Given the description of an element on the screen output the (x, y) to click on. 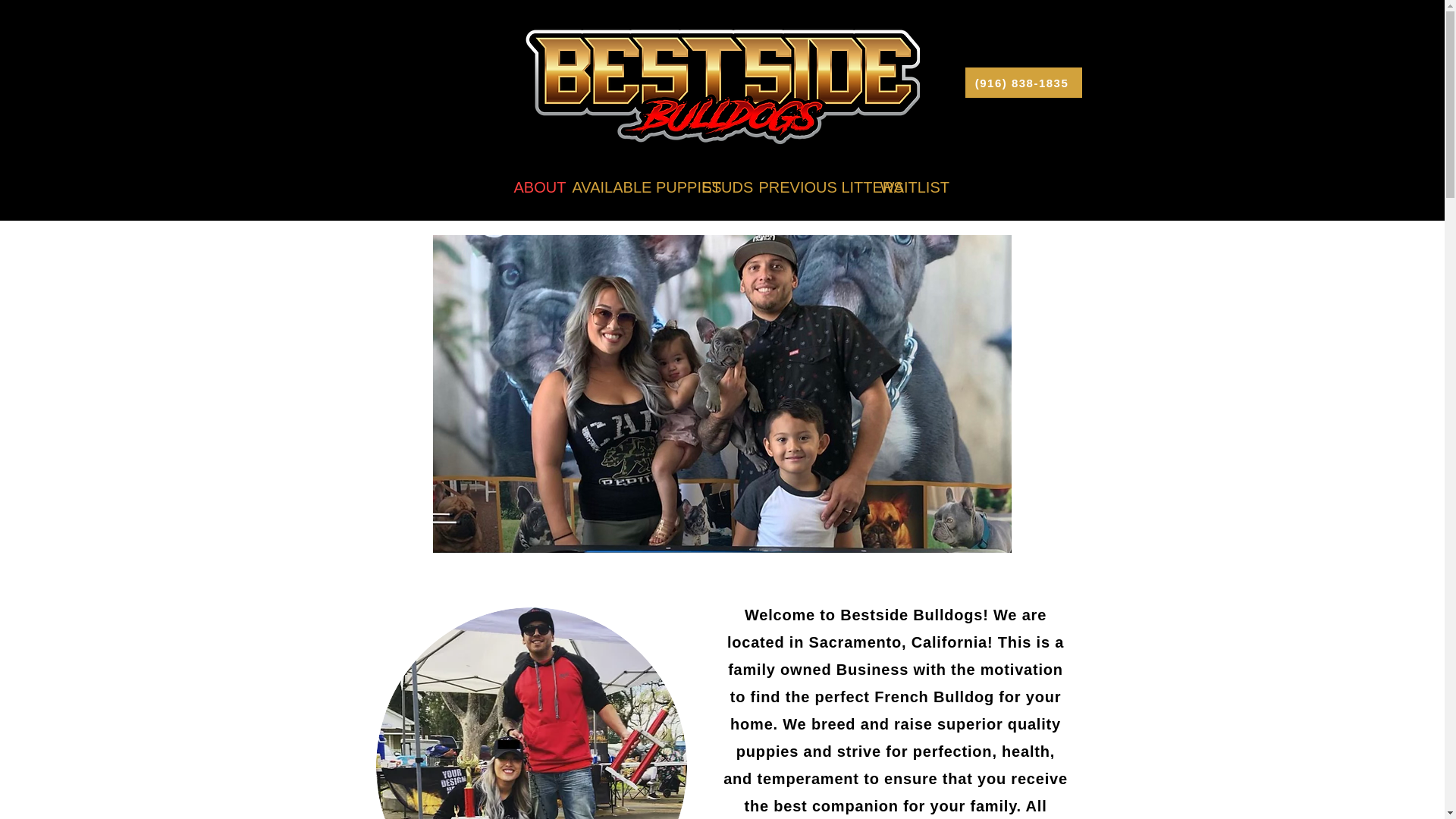
AVAILABLE PUPPIES (625, 186)
STUDS (718, 186)
WAITLIST (905, 186)
PREVIOUS LITTERS (808, 186)
ABOUT (531, 186)
